Given the description of an element on the screen output the (x, y) to click on. 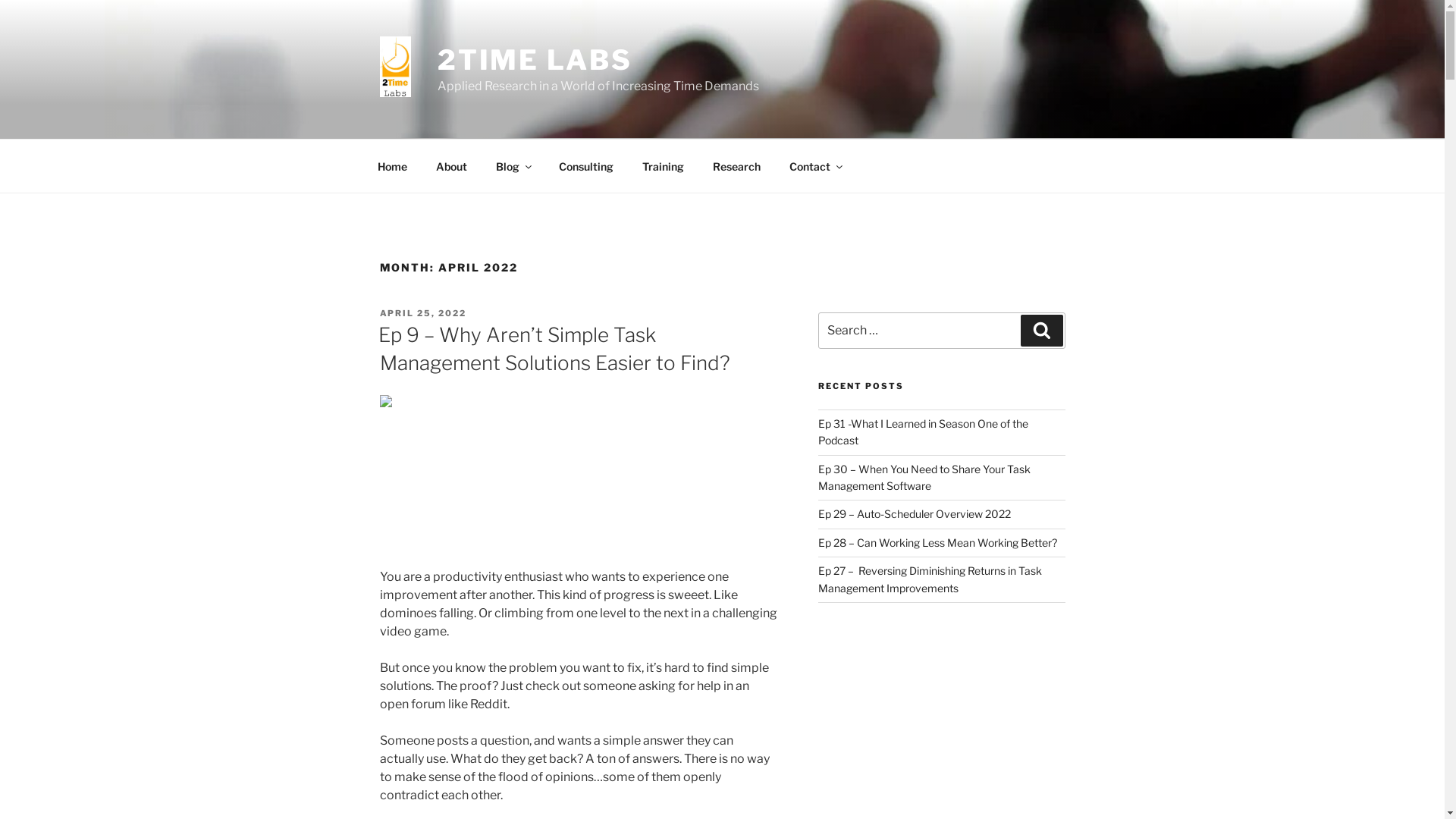
2TIME LABS Element type: text (534, 59)
Consulting Element type: text (586, 165)
APRIL 25, 2022 Element type: text (422, 312)
Search Element type: text (1041, 330)
Training Element type: text (663, 165)
About Element type: text (451, 165)
Blog Element type: text (512, 165)
Ep 31 -What I Learned in Season One of the Podcast Element type: text (923, 431)
Contact Element type: text (815, 165)
Home Element type: text (392, 165)
Research Element type: text (736, 165)
